Given the description of an element on the screen output the (x, y) to click on. 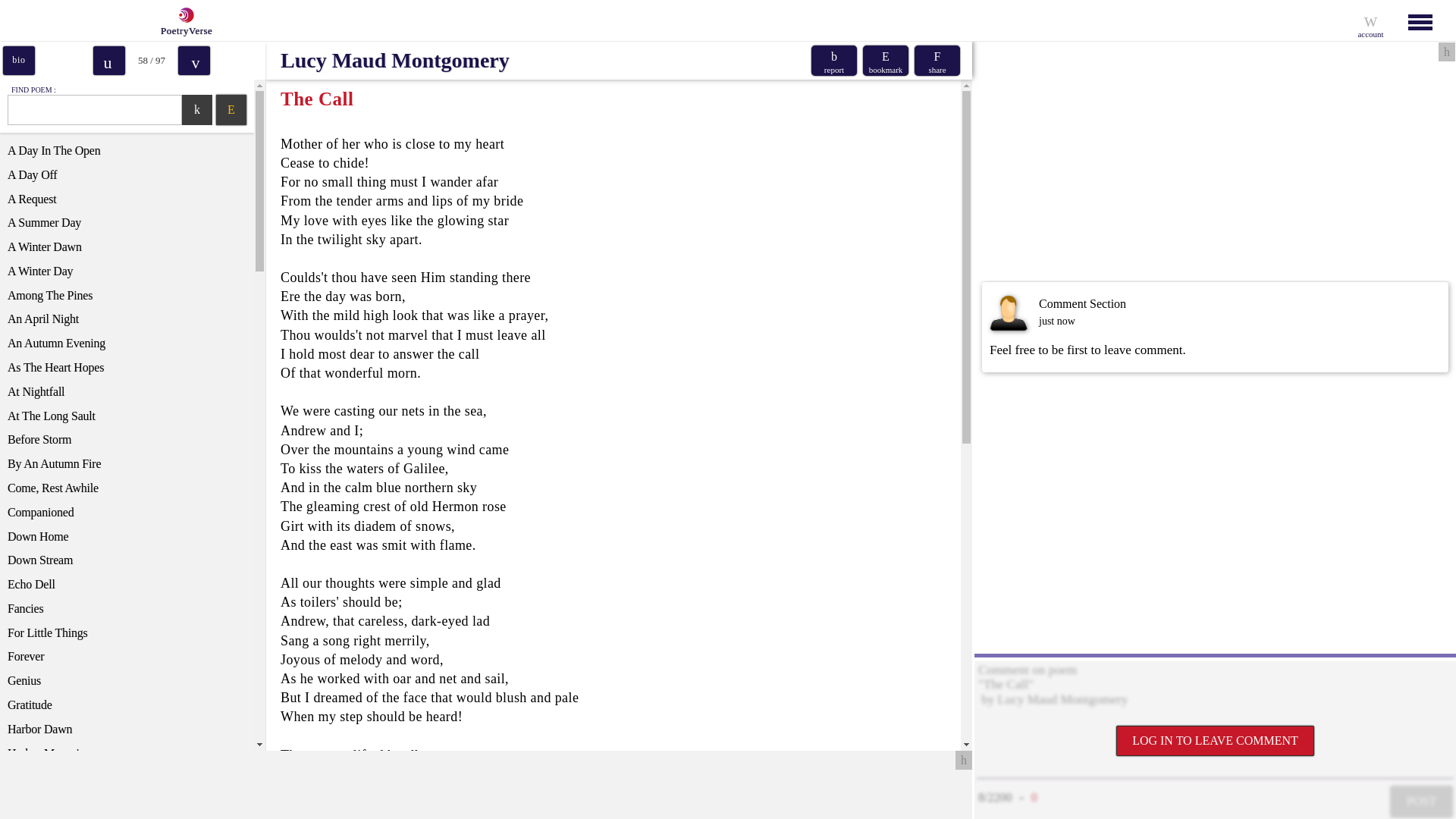
Poetry Verse Logo (183, 15)
PoetryVerse (182, 20)
user widget button (1370, 20)
